Given the description of an element on the screen output the (x, y) to click on. 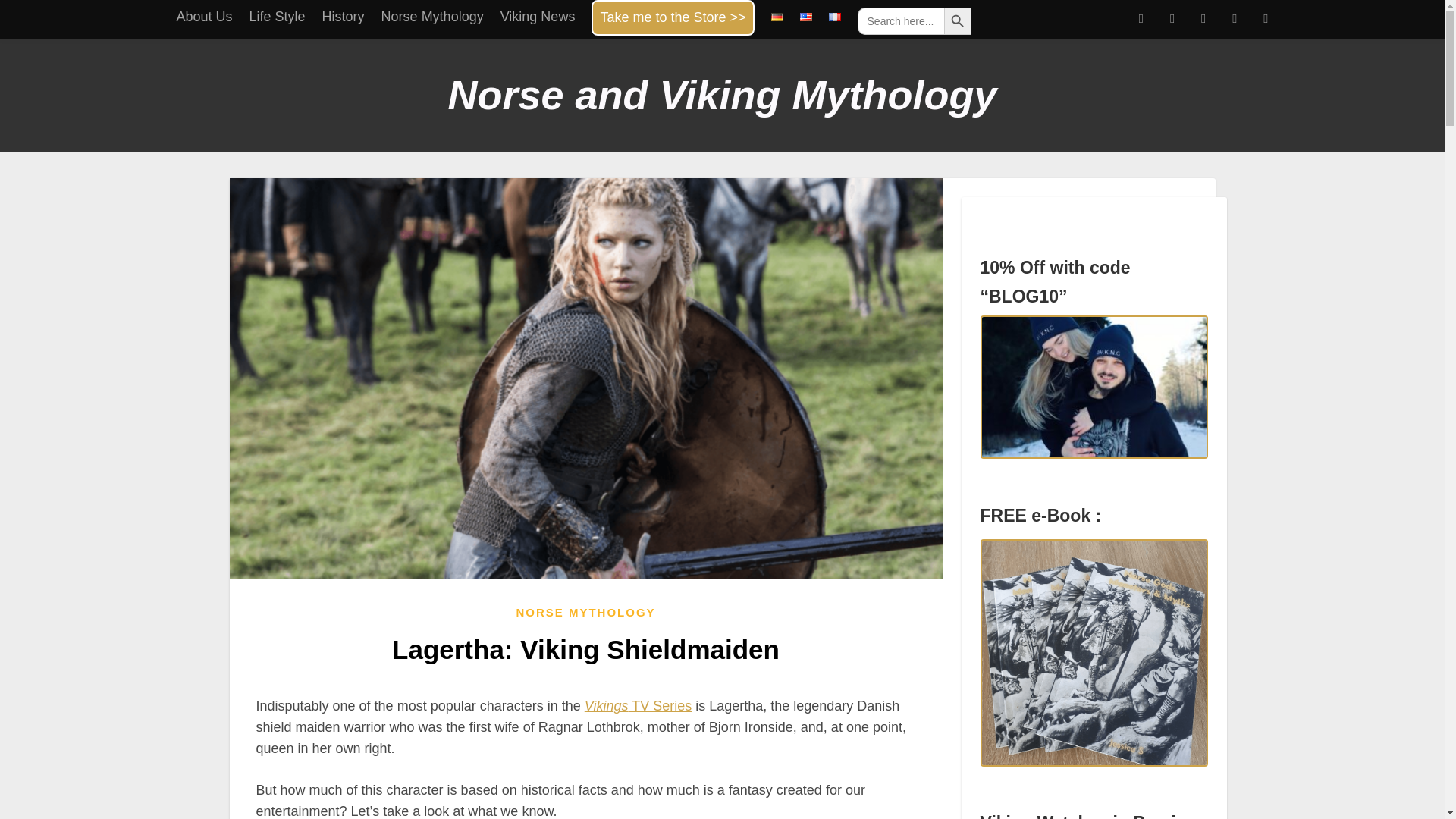
Norse Mythology (432, 13)
Viking News (537, 13)
About Us (203, 13)
History (343, 13)
Search (31, 12)
Vikings TV Series (638, 705)
Life Style (276, 13)
NORSE MYTHOLOGY (585, 612)
Norse and Viking Mythology (721, 94)
Search Button (957, 21)
